Given the description of an element on the screen output the (x, y) to click on. 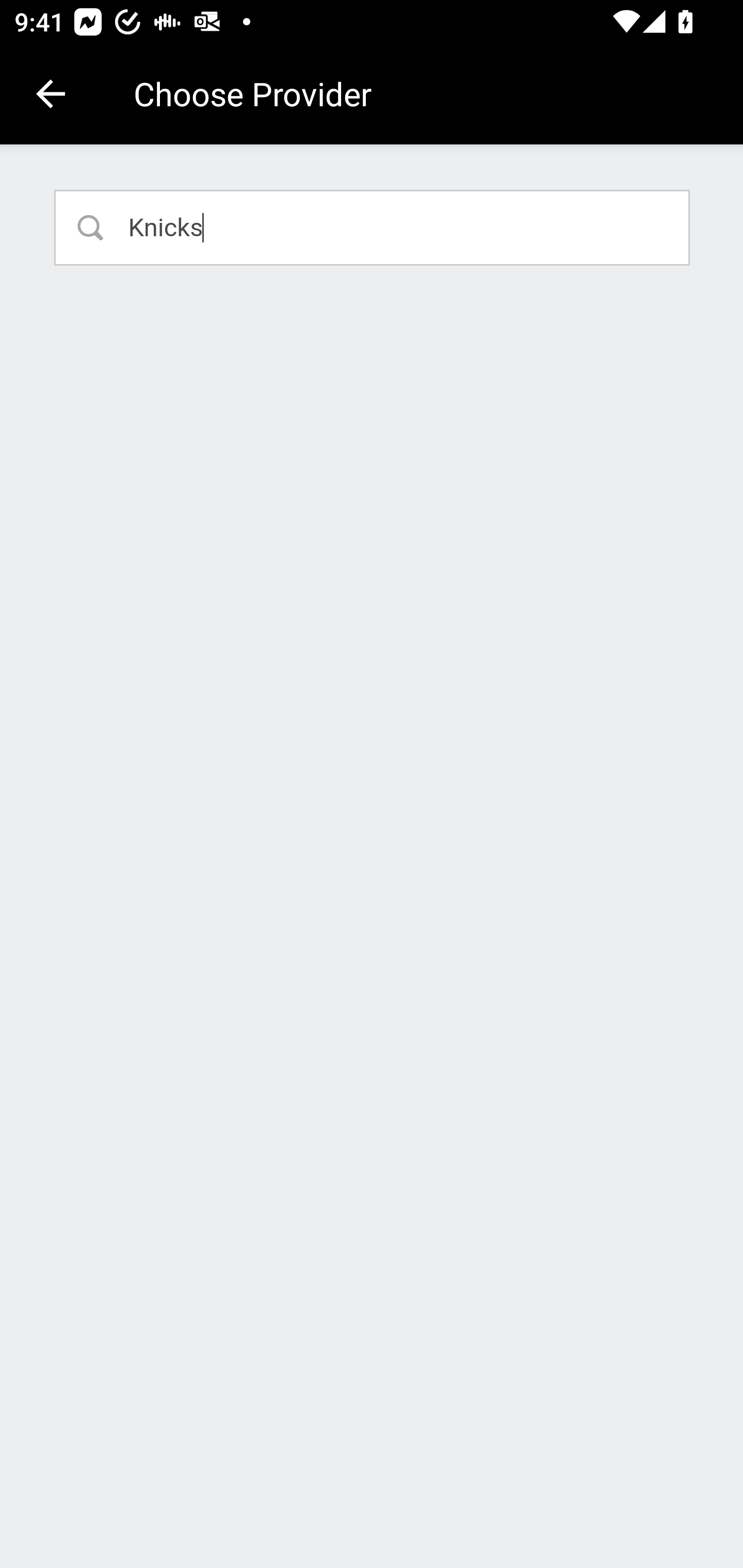
Navigate up (50, 93)
Knicks (372, 227)
